Given the description of an element on the screen output the (x, y) to click on. 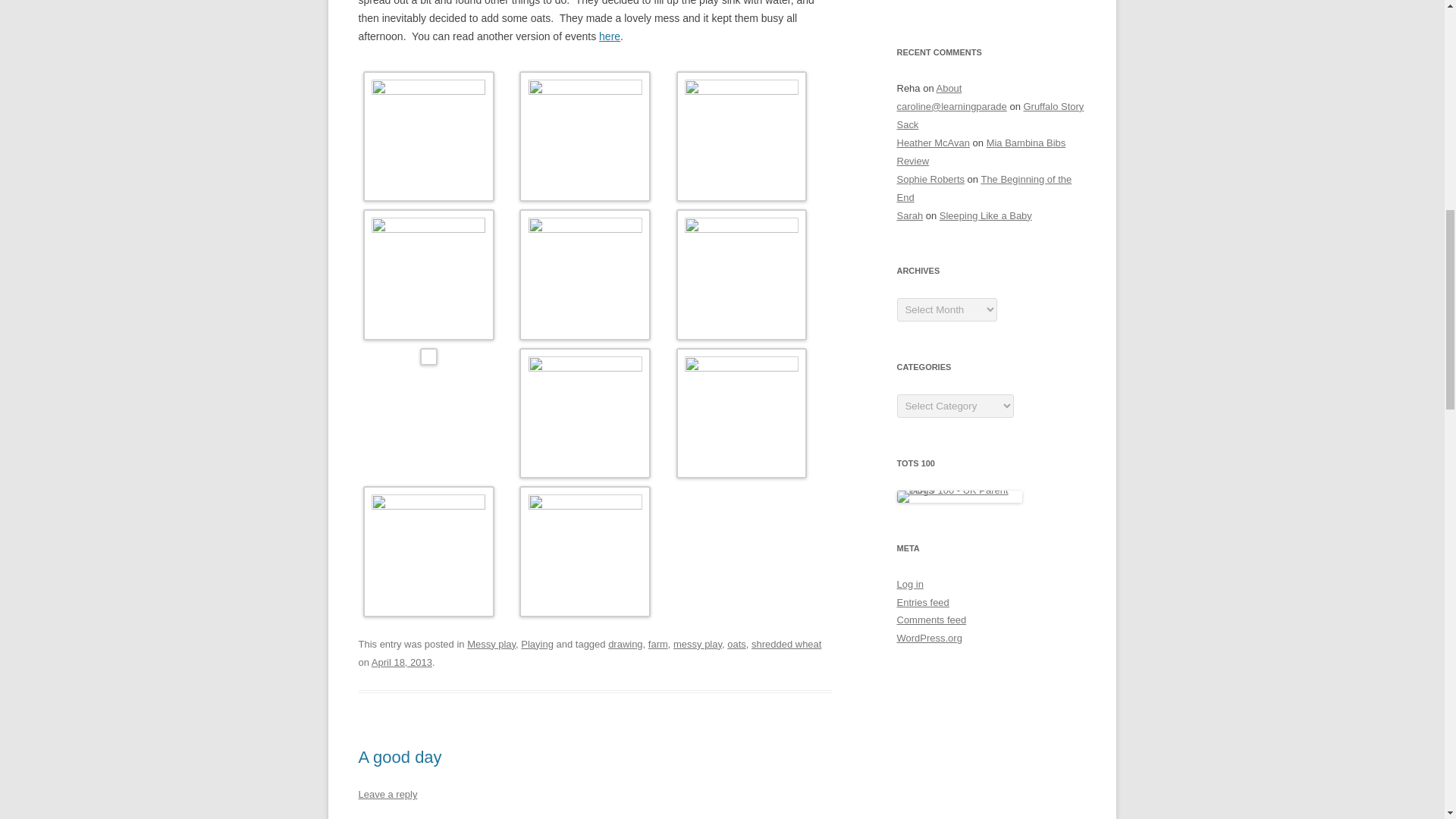
10:48 pm (401, 662)
here (609, 36)
A good day (399, 756)
oats (735, 644)
shredded wheat (786, 644)
Leave a reply (387, 794)
messy play (697, 644)
drawing (625, 644)
farm (657, 644)
April 18, 2013 (401, 662)
